Given the description of an element on the screen output the (x, y) to click on. 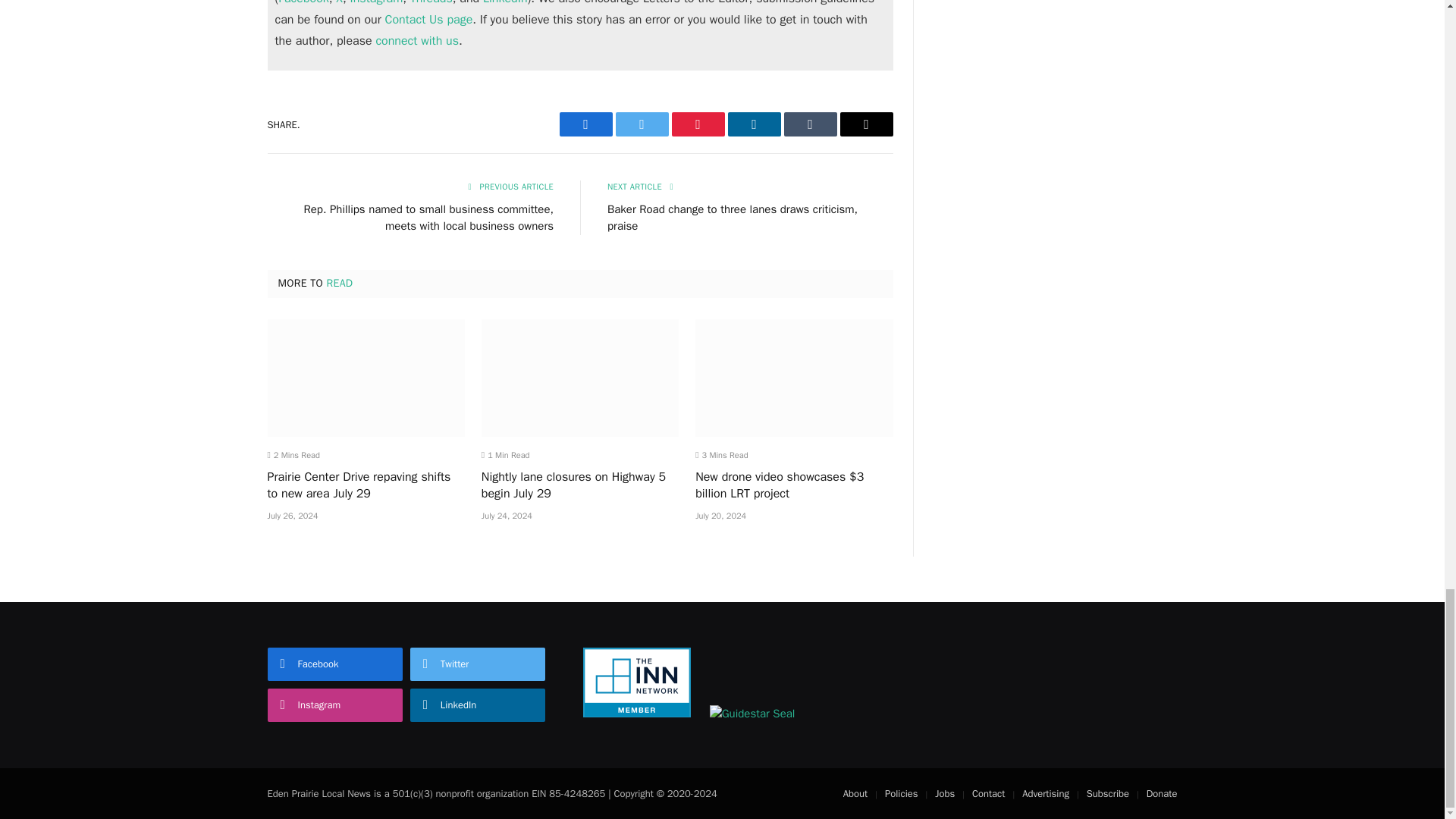
Share on Tumblr (810, 124)
Share via Email (866, 124)
Share on Pinterest (698, 124)
Prairie Center Drive repaving shifts to new area July 29 (365, 377)
Share on Facebook (585, 124)
Share on LinkedIn (754, 124)
